Given the description of an element on the screen output the (x, y) to click on. 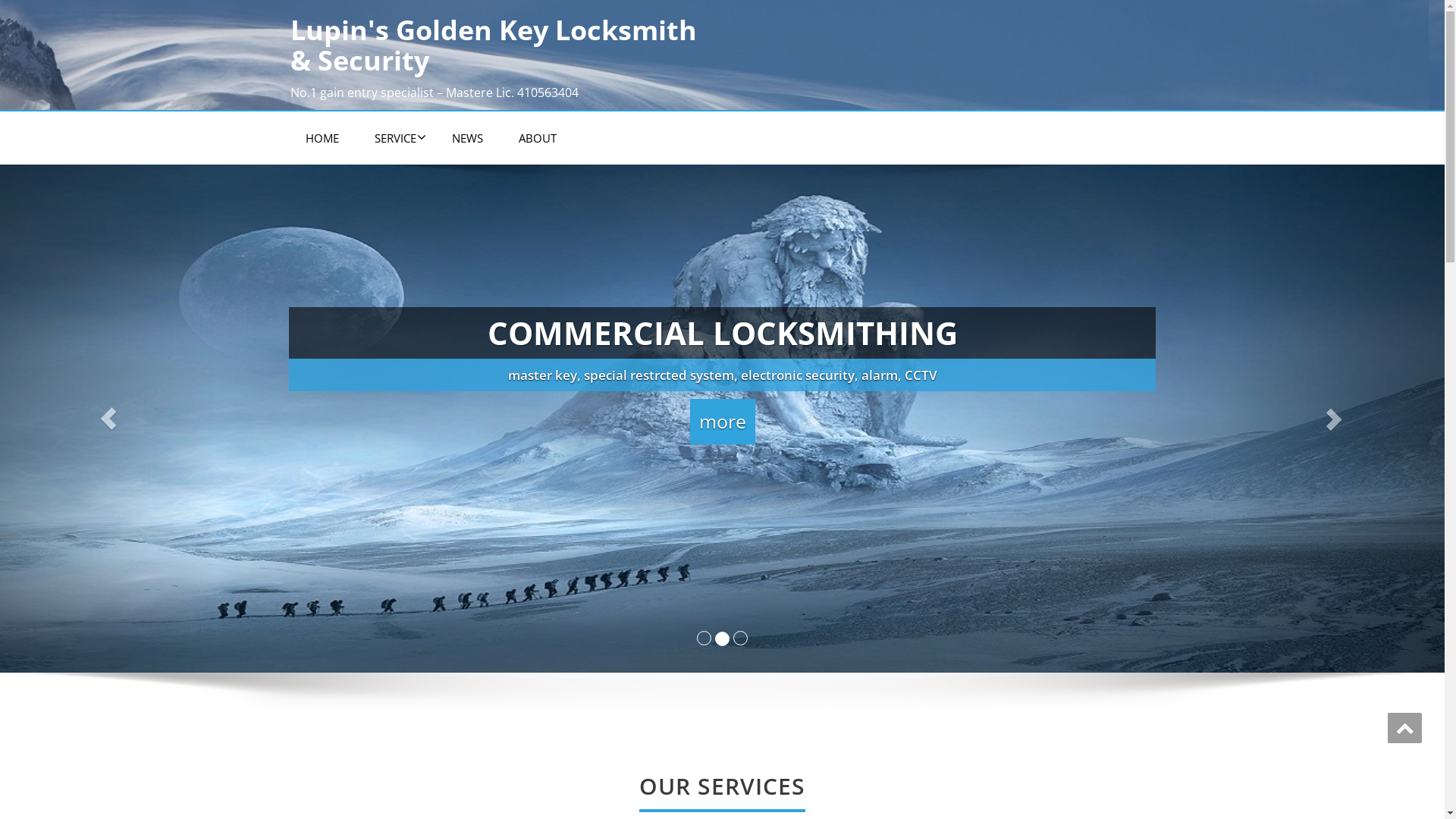
ABOUT Element type: text (537, 137)
Lupin's Golden Key Locksmith & Security Element type: text (499, 45)
HOME Element type: text (321, 137)
Go Top Element type: hover (1404, 727)
SERVICE Element type: text (395, 137)
NEWS Element type: text (467, 137)
